Given the description of an element on the screen output the (x, y) to click on. 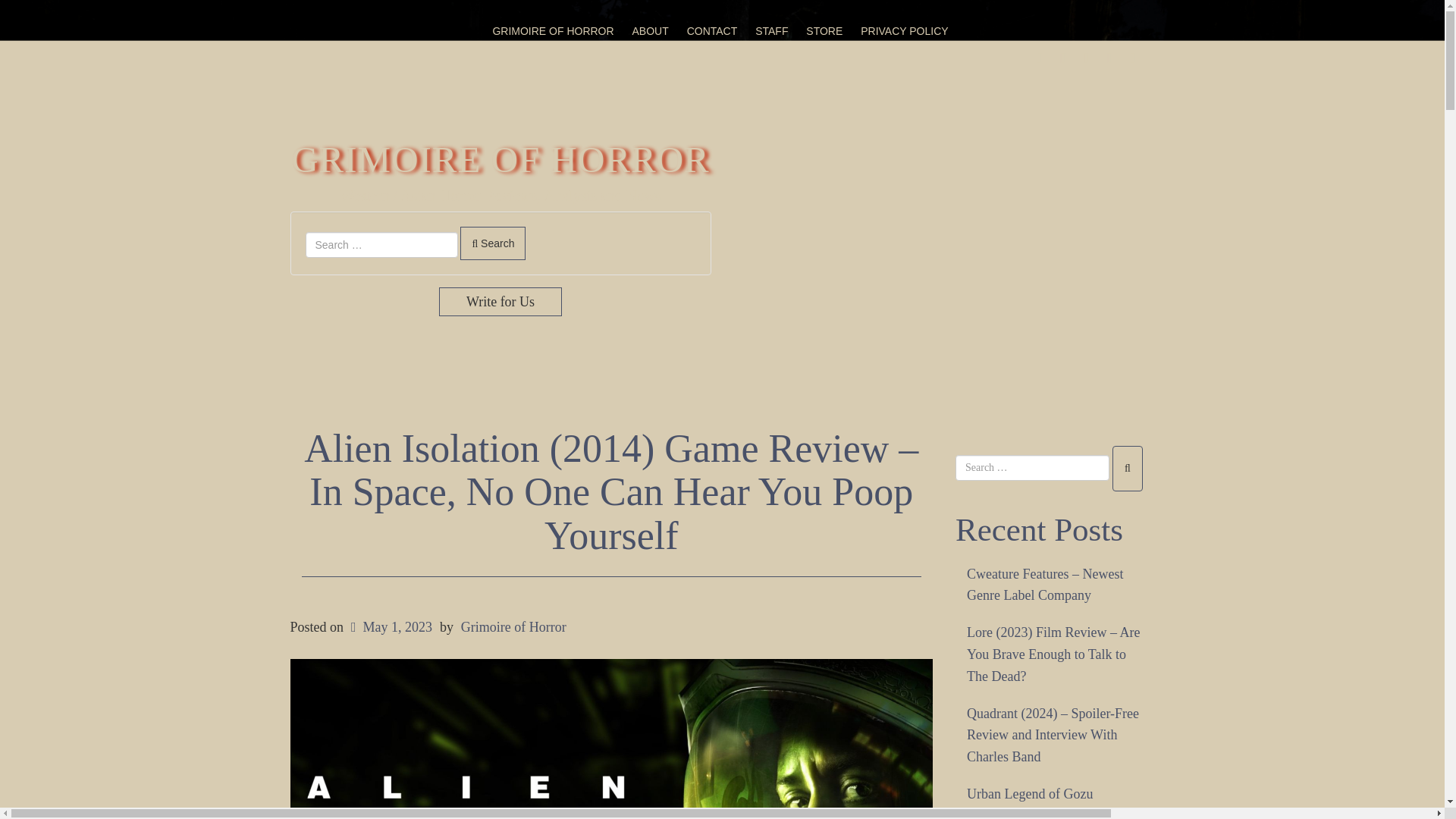
YouTube (1109, 57)
FACEBOOK (1039, 57)
INSTAGRAM (1086, 57)
Facebook (1039, 57)
Grimoire of Horror (513, 626)
Twitter (1063, 57)
 Search (492, 243)
PRIVACY POLICY (904, 30)
GRIMOIRE OF HORROR (552, 30)
YOUTUBE (1109, 57)
